Given the description of an element on the screen output the (x, y) to click on. 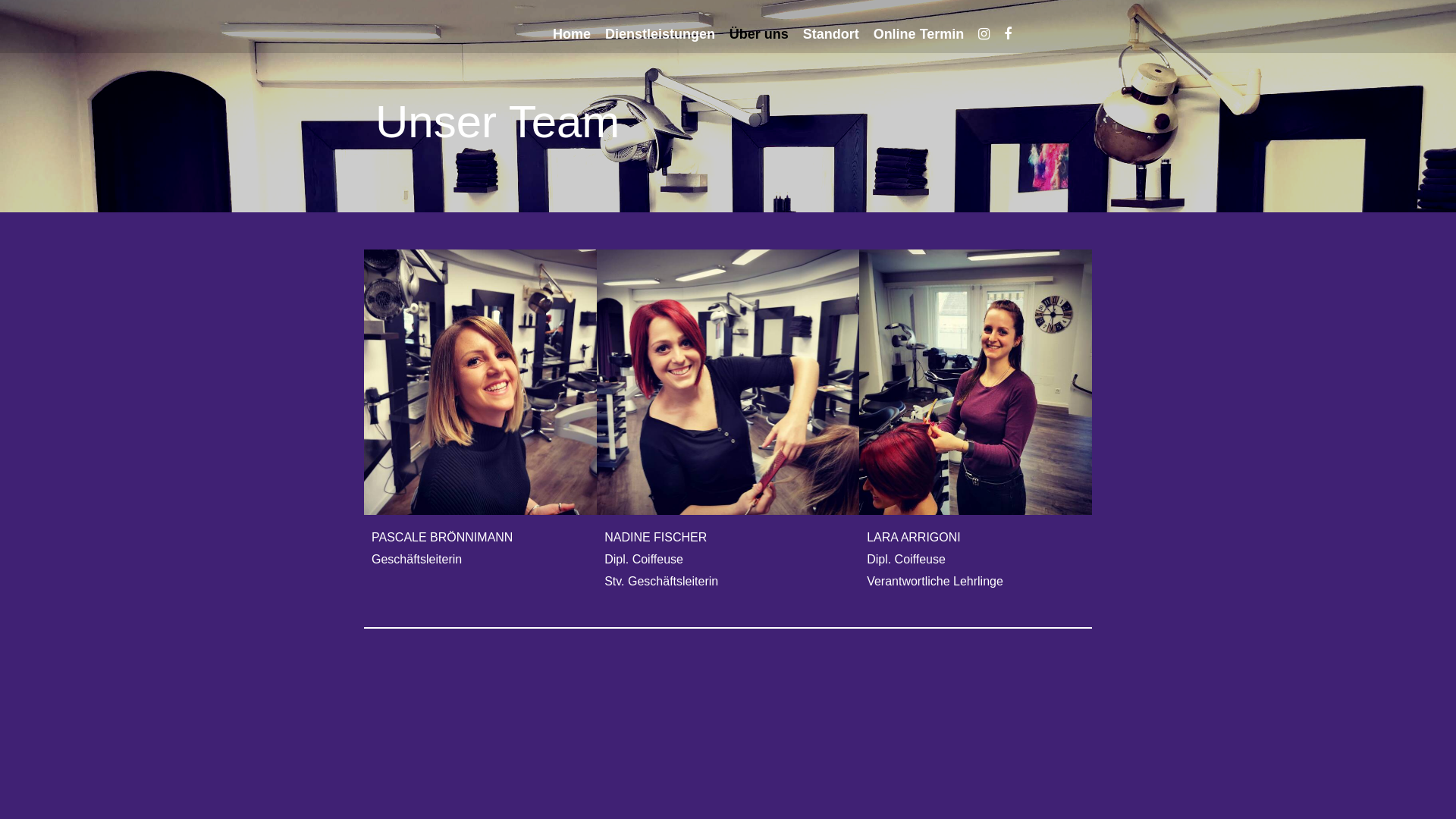
Online Termin Element type: text (924, 33)
Home Element type: text (577, 33)
Standort Element type: text (836, 33)
Dienstleistungen Element type: text (665, 33)
